Given the description of an element on the screen output the (x, y) to click on. 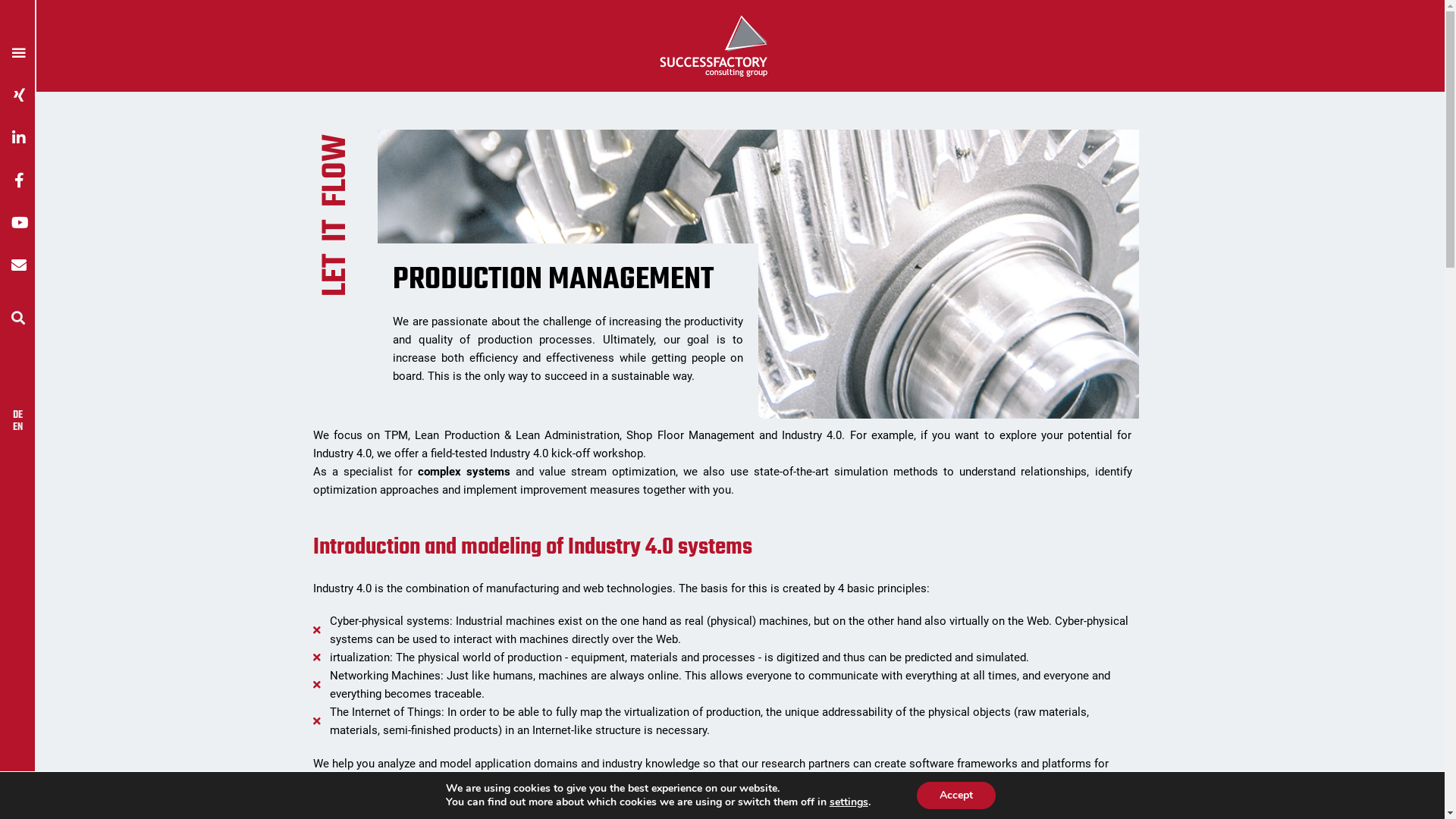
Accept Element type: text (955, 795)
settings Element type: text (848, 802)
EN Element type: text (13, 427)
DE Element type: text (13, 415)
